Given the description of an element on the screen output the (x, y) to click on. 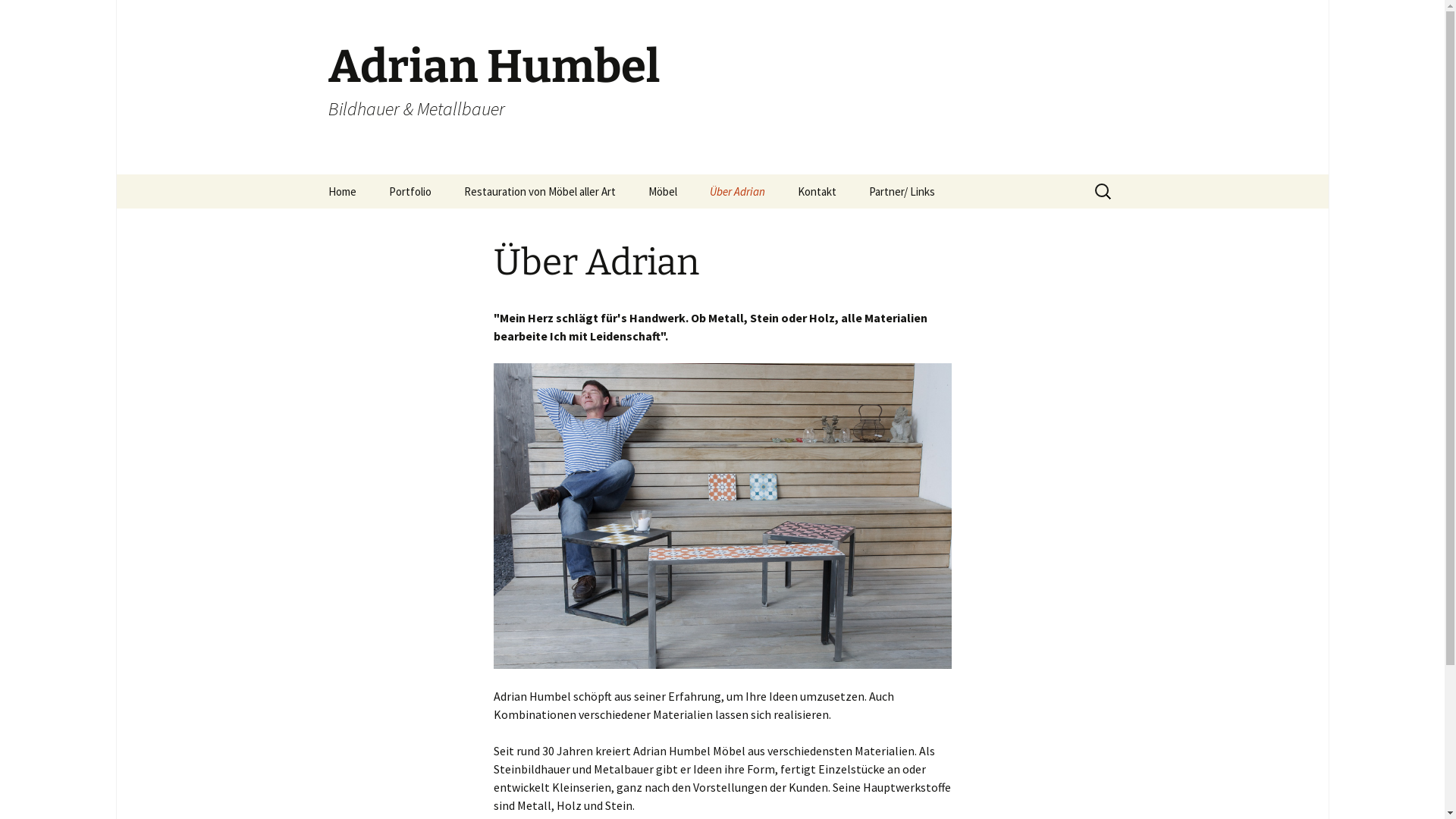
Adrian Humbel
Bildhauer & Metallbauer Element type: text (721, 87)
Kontakt Element type: text (816, 191)
Partner/ Links Element type: text (901, 191)
Suche Element type: text (18, 16)
Suche nach: Element type: hover (1103, 191)
Home Element type: text (341, 191)
Zum Inhalt springen Element type: text (365, 183)
Portfolio Element type: text (409, 191)
